Given the description of an element on the screen output the (x, y) to click on. 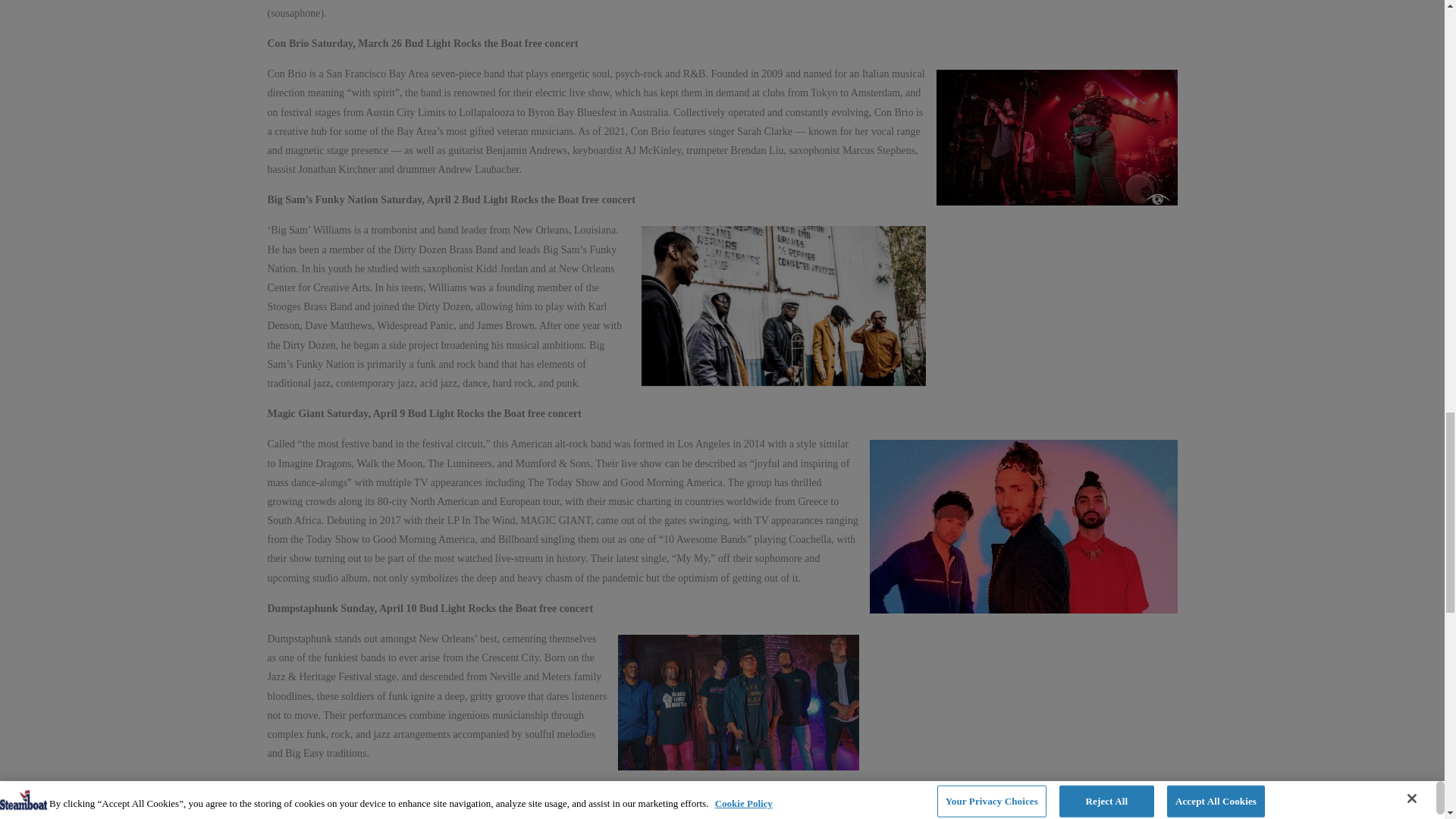
Share on Facebook (285, 809)
Share on Twitter (324, 809)
